Given the description of an element on the screen output the (x, y) to click on. 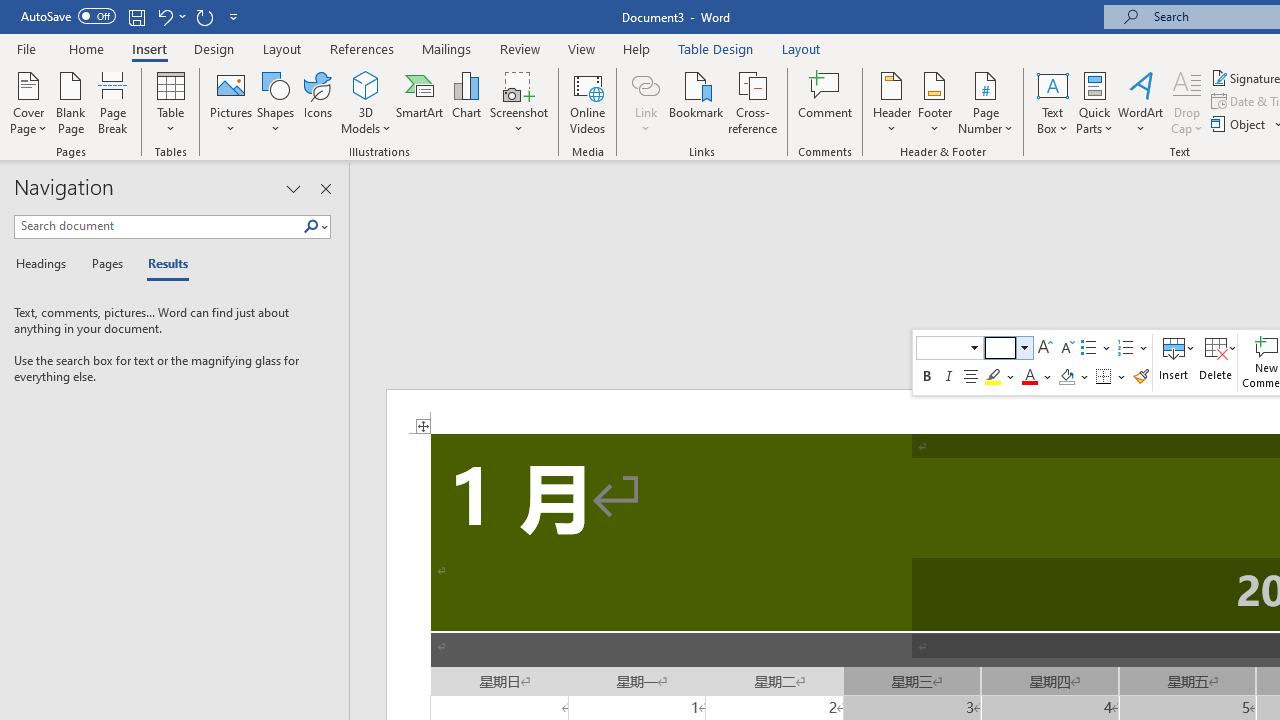
Screenshot (518, 102)
3D Models (366, 102)
WordArt (1141, 102)
Object... (1240, 124)
Class: NetUITextbox (1000, 347)
Undo Apply Quick Style (170, 15)
Page Number (986, 102)
